Given the description of an element on the screen output the (x, y) to click on. 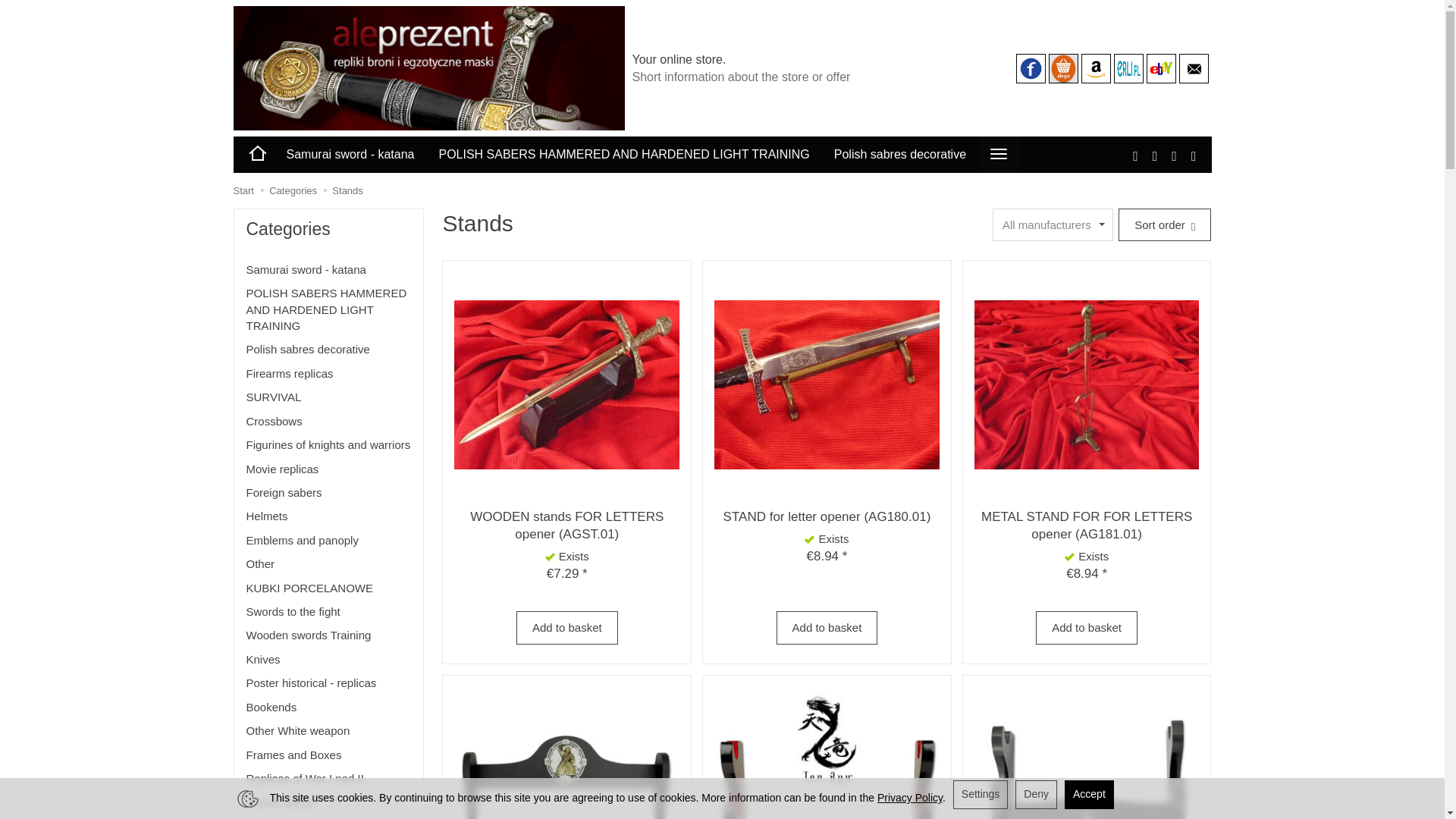
Samurai sword - katana (350, 154)
POLISH SABERS HAMMERED AND HARDENED LIGHT TRAINING (623, 154)
Polish sabres decorative (900, 154)
